Given the description of an element on the screen output the (x, y) to click on. 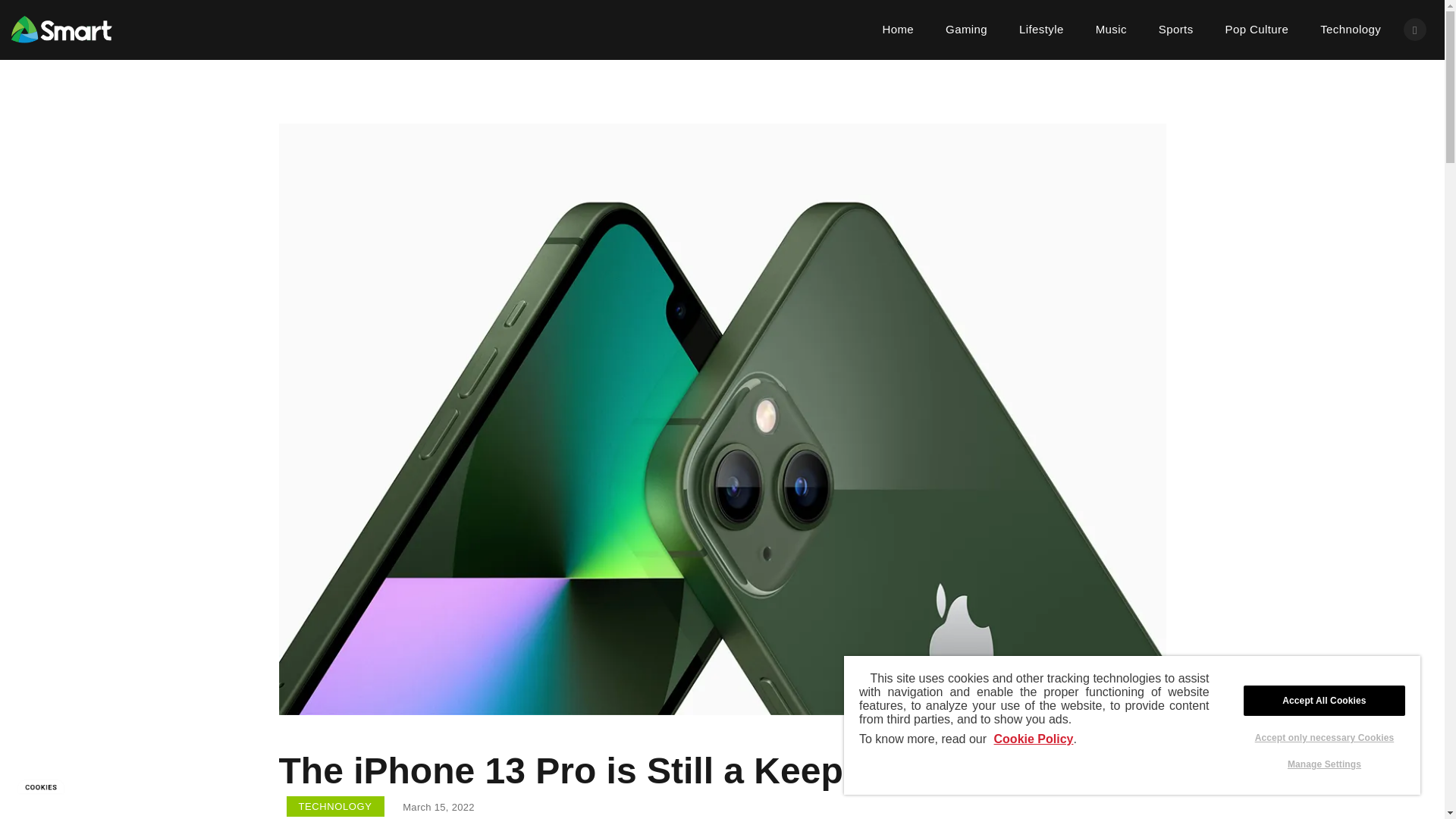
Pop Culture (1256, 29)
Gaming (966, 29)
Home (898, 29)
Sports (1175, 29)
TECHNOLOGY (335, 806)
Technology (1350, 29)
Music (1111, 29)
Lifestyle (1041, 29)
Onetrust Cookie Settings (40, 786)
